Given the description of an element on the screen output the (x, y) to click on. 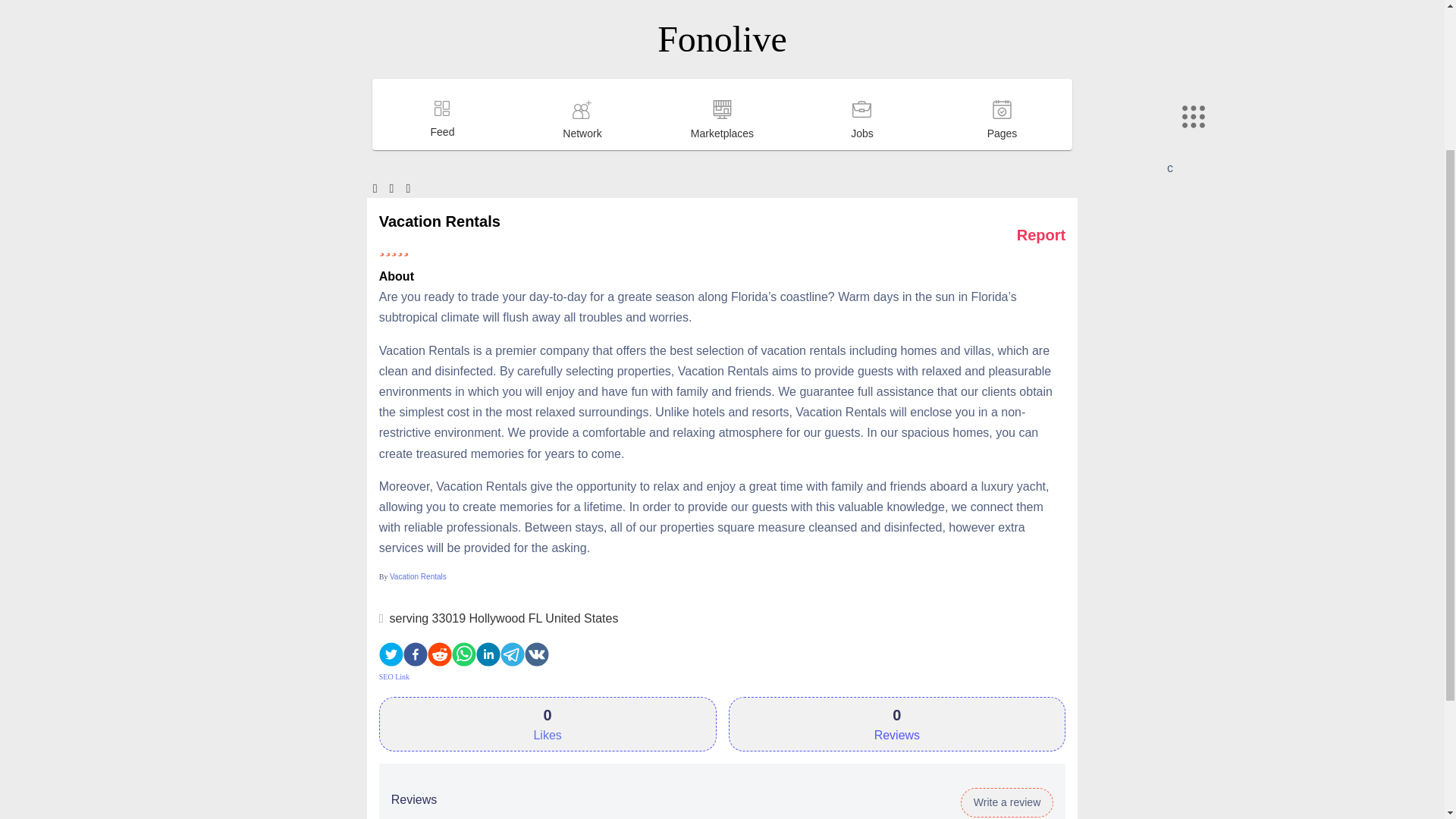
Vacation Rentals (418, 576)
SEO Link (393, 676)
